Given the description of an element on the screen output the (x, y) to click on. 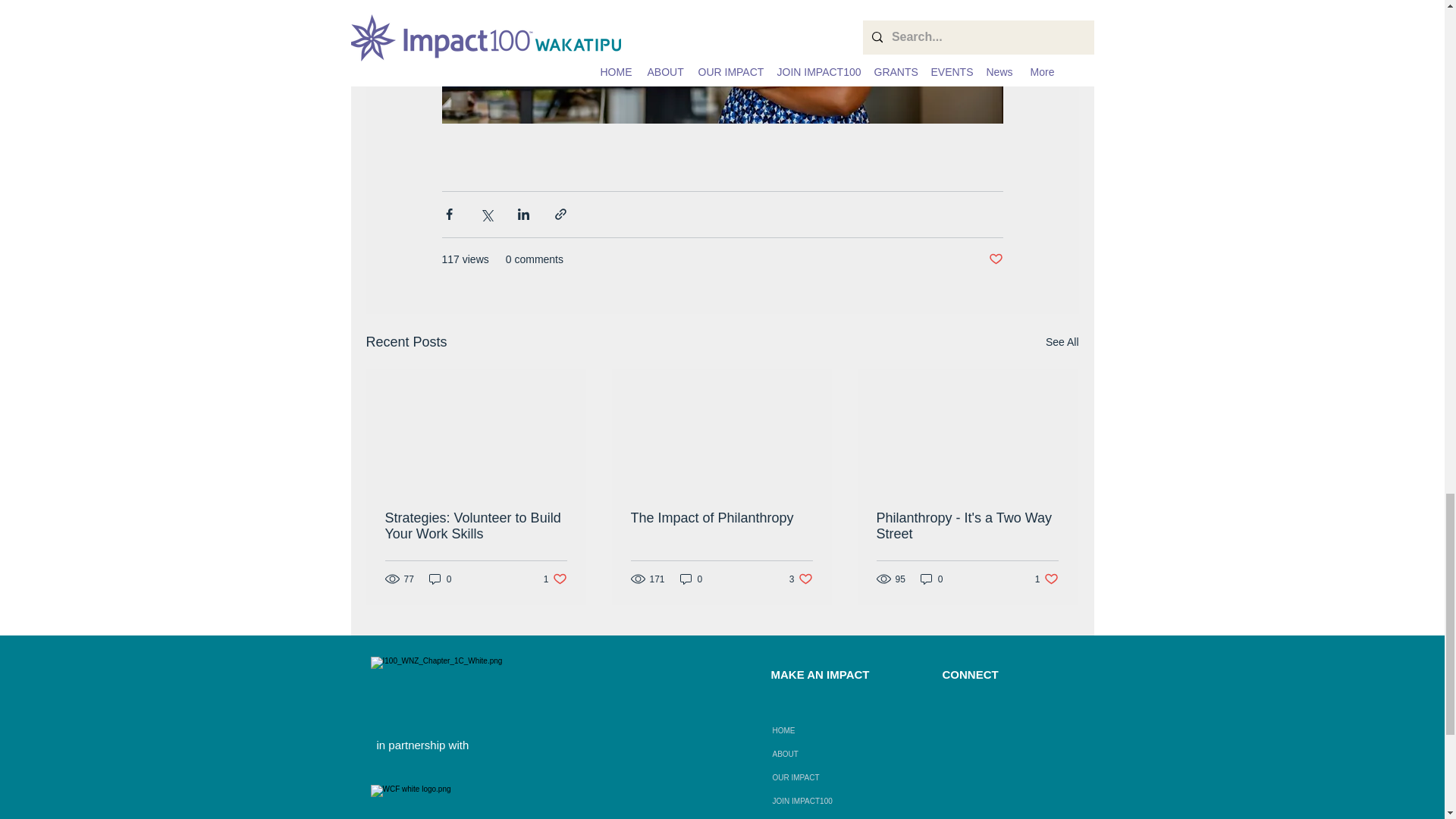
0 (691, 578)
Post not marked as liked (995, 259)
0 (440, 578)
See All (1061, 341)
The Impact of Philanthropy (555, 578)
Strategies: Volunteer to Build Your Work Skills (721, 518)
